Given the description of an element on the screen output the (x, y) to click on. 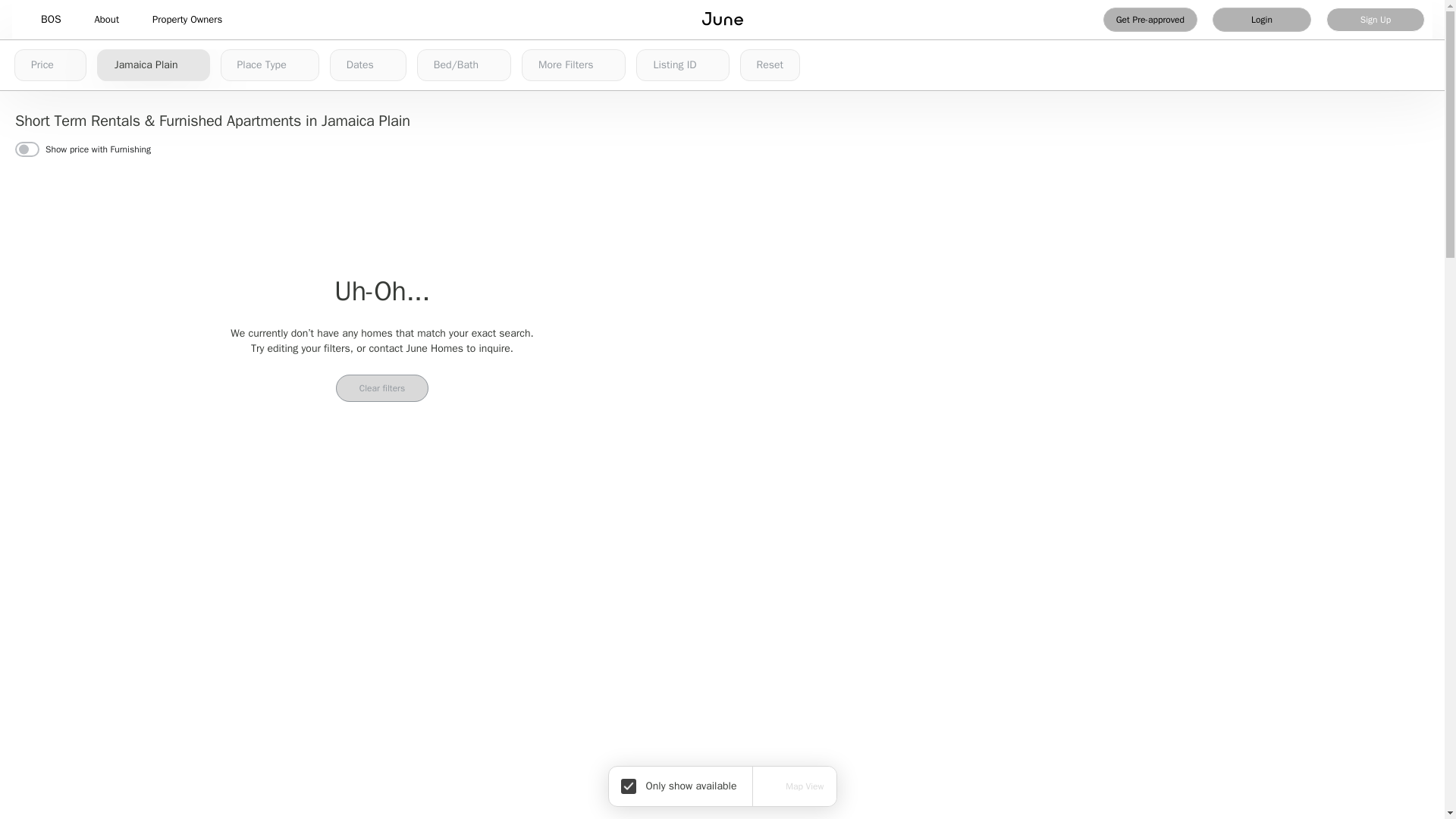
More Filters (573, 65)
Get Pre-approved (1149, 19)
Clear filters (382, 388)
BOS (50, 19)
Sign Up (1375, 19)
Map View (793, 785)
Sign Up (1375, 19)
Jamaica Plain (153, 65)
Login (1261, 19)
Place Type (269, 65)
Dates (368, 65)
Price (49, 65)
Login (1261, 19)
Reset (769, 65)
Listing ID (682, 65)
